Given the description of an element on the screen output the (x, y) to click on. 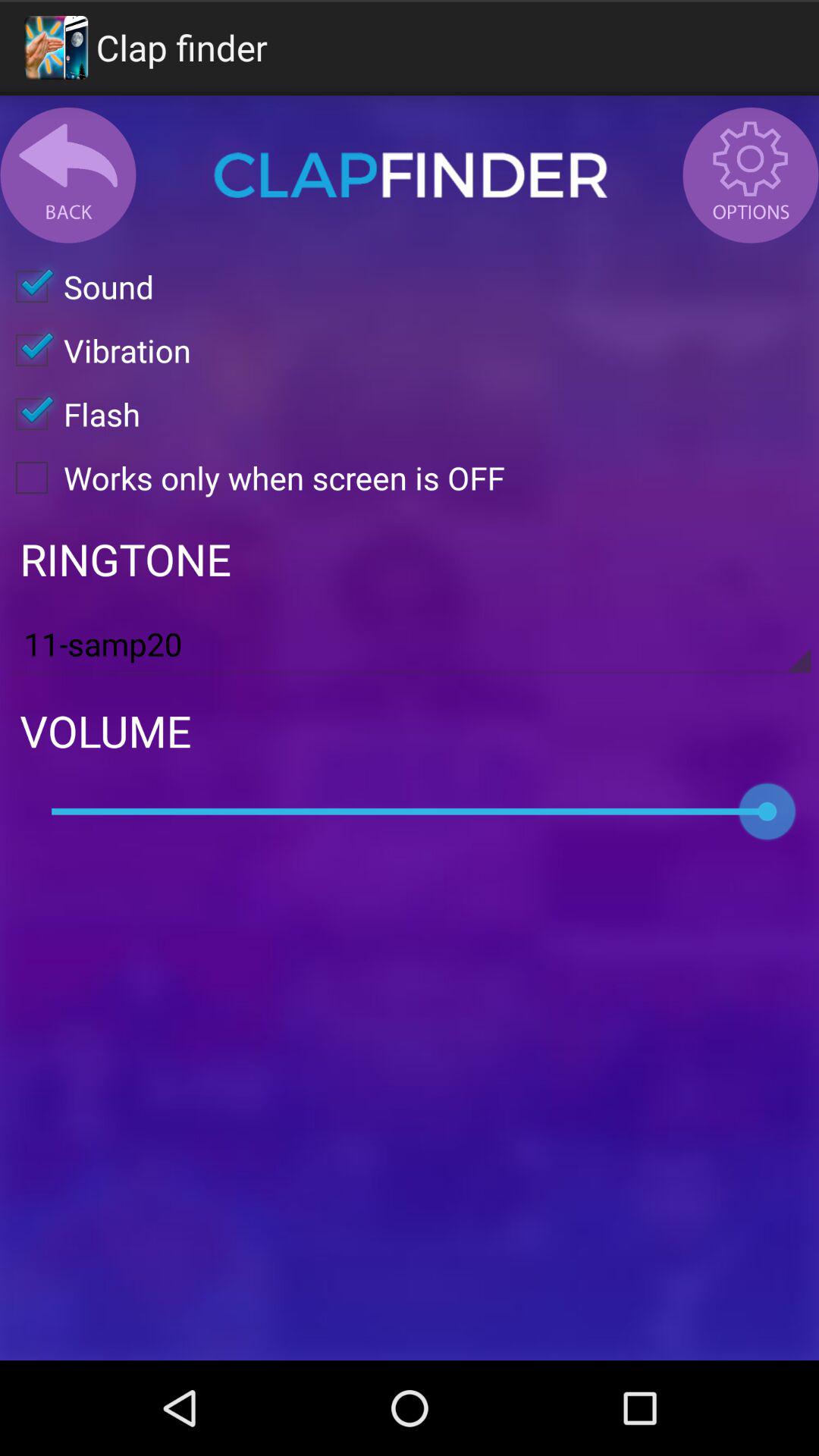
tap the item above ringtone app (252, 477)
